Given the description of an element on the screen output the (x, y) to click on. 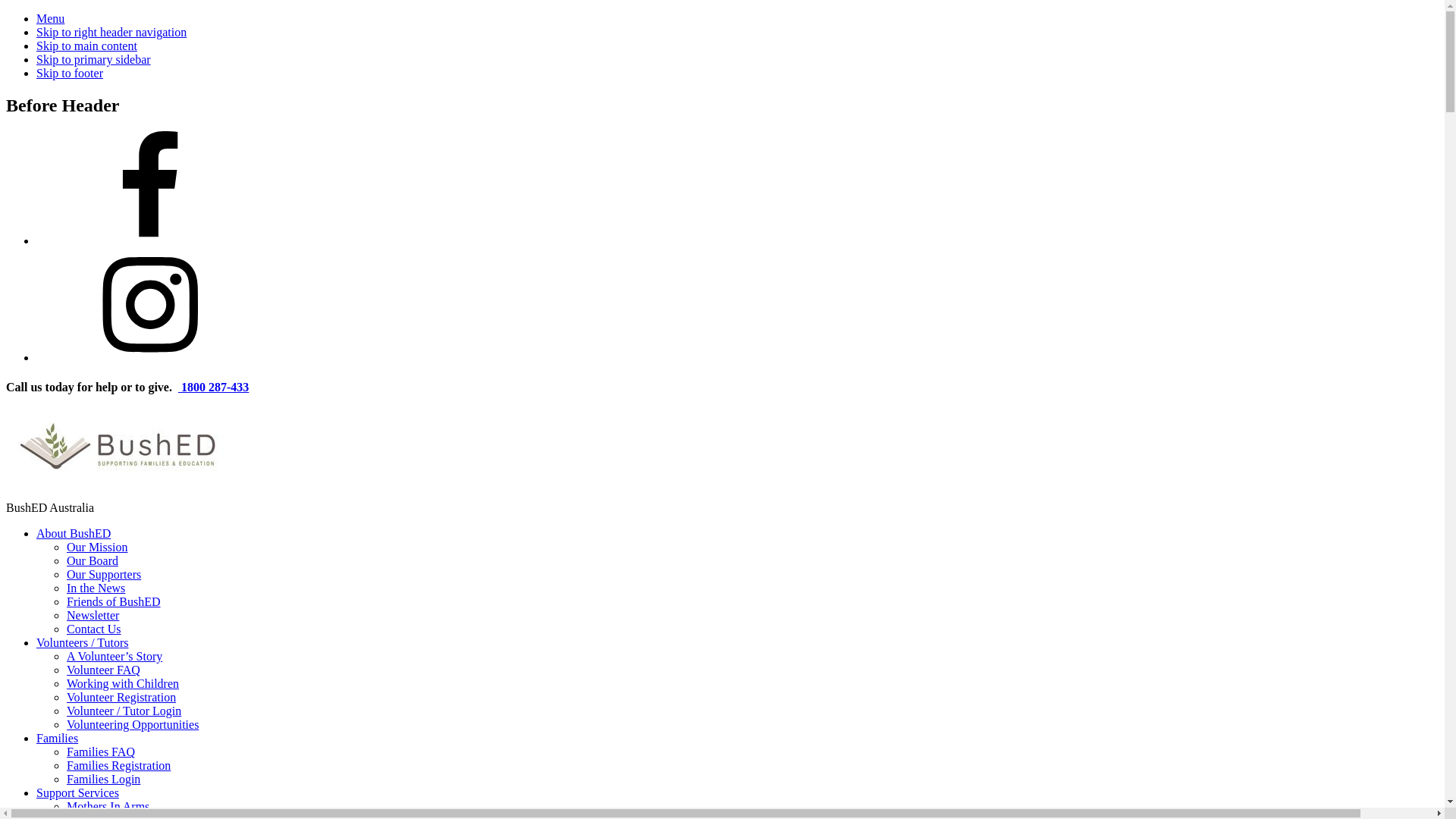
In the News Element type: text (95, 587)
Families Registration Element type: text (118, 765)
Our Mission Element type: text (96, 546)
Working with Children Element type: text (122, 683)
Families FAQ Element type: text (100, 751)
Support Services Element type: text (77, 792)
Families Element type: text (57, 737)
Mothers In Arms Element type: text (107, 806)
Volunteer / Tutor Login Element type: text (123, 710)
Skip to main content Element type: text (86, 45)
Skip to primary sidebar Element type: text (93, 59)
Skip to footer Element type: text (69, 72)
Volunteers / Tutors Element type: text (82, 642)
Friends of BushED Element type: text (113, 601)
Our Supporters Element type: text (103, 573)
Menu Element type: text (50, 18)
Families Login Element type: text (103, 778)
Skip to right header navigation Element type: text (111, 31)
Volunteer FAQ Element type: text (103, 669)
Volunteer Registration Element type: text (120, 696)
1800 287-433 Element type: text (213, 386)
Volunteering Opportunities Element type: text (132, 724)
Instagram Element type: text (149, 357)
Newsletter Element type: text (92, 614)
About BushED Element type: text (73, 533)
Facebook Element type: text (149, 240)
Our Board Element type: text (92, 560)
Contact Us Element type: text (93, 628)
